Given the description of an element on the screen output the (x, y) to click on. 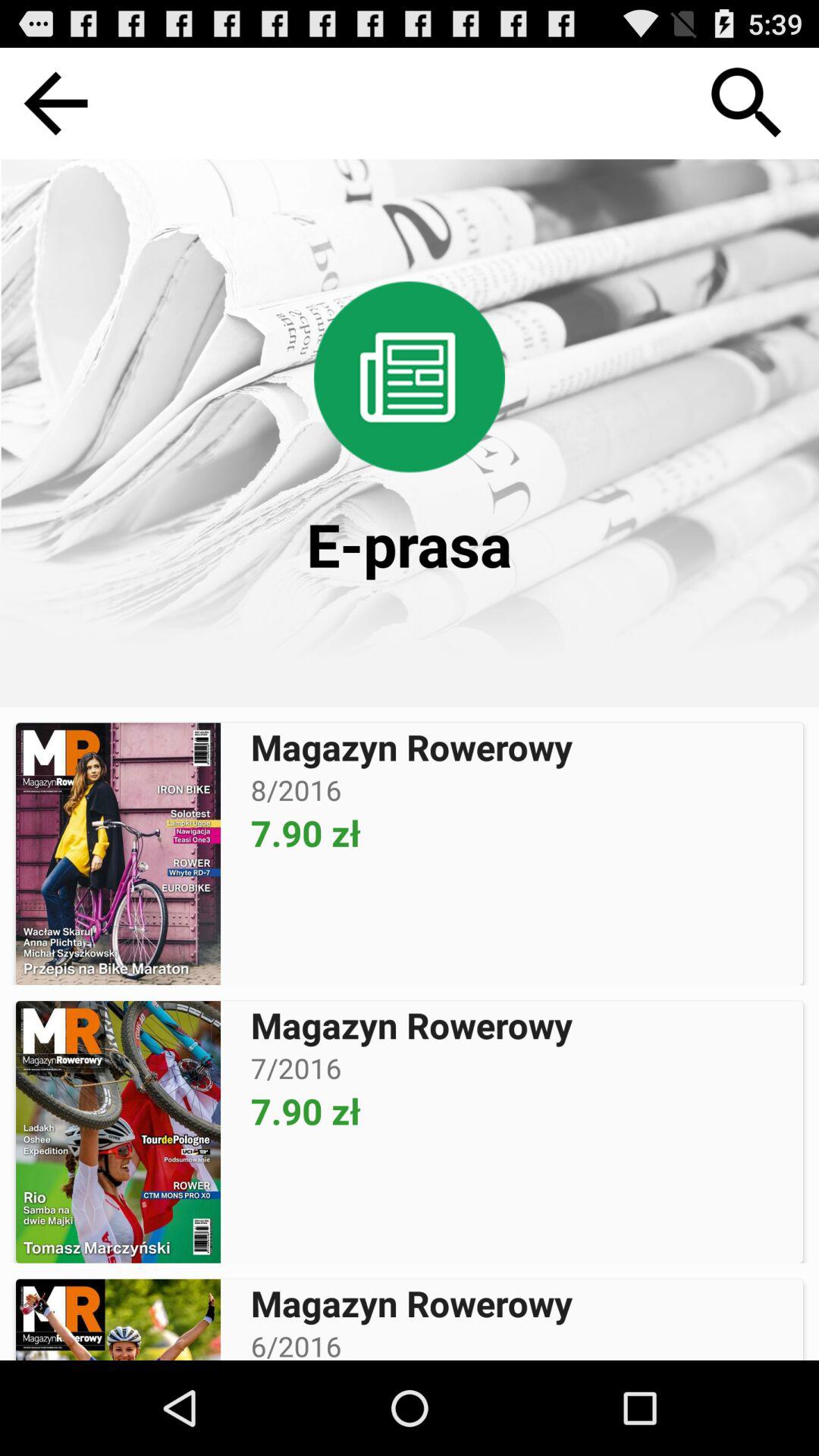
select icon at the top right corner (747, 103)
